Given the description of an element on the screen output the (x, y) to click on. 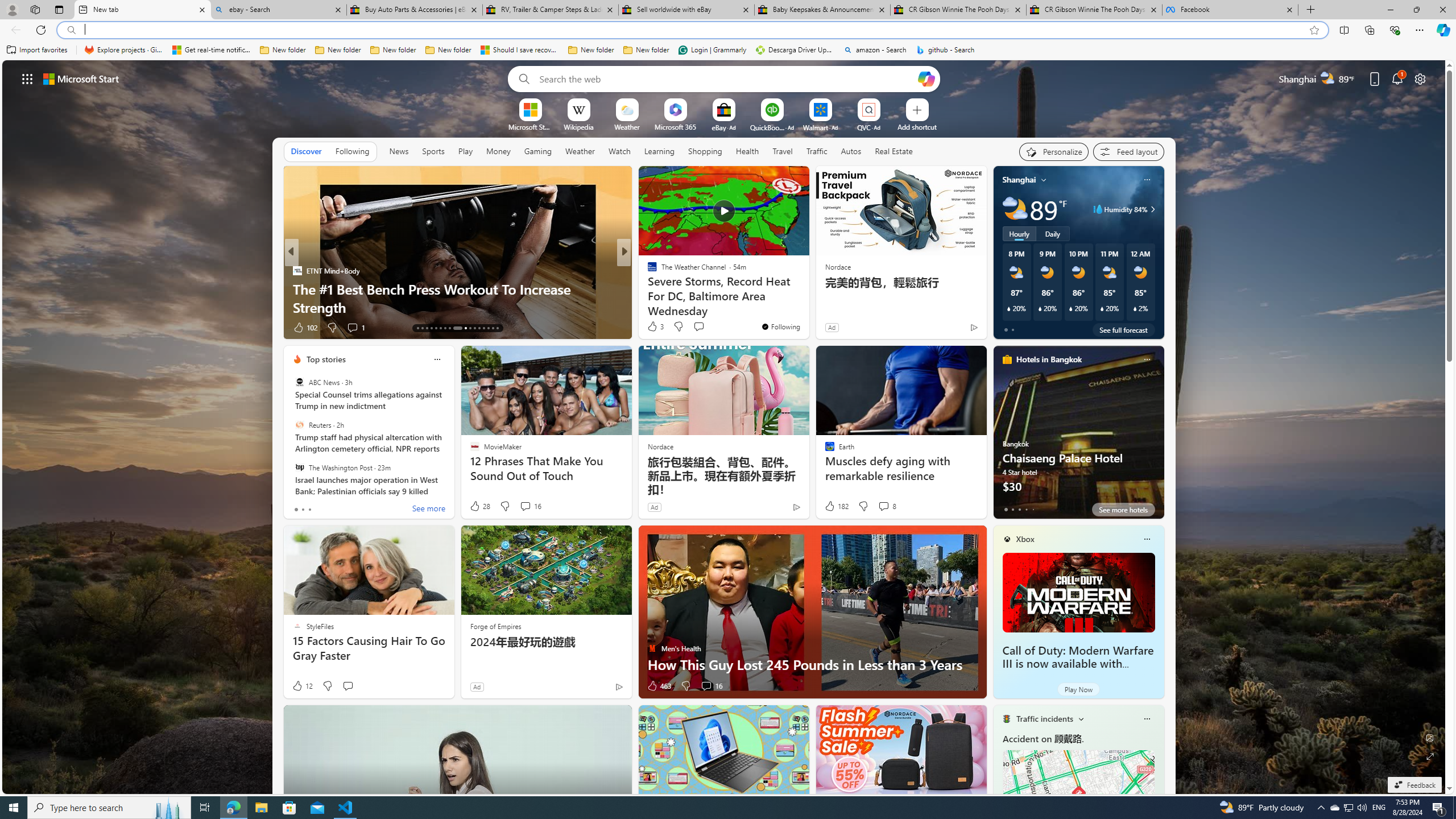
Dailymotion (647, 288)
More Options (886, 101)
tab-4 (1032, 509)
Login | Grammarly (712, 49)
Should I save recovered Word documents? - Microsoft Support (519, 49)
463 Like (658, 685)
